Given the description of an element on the screen output the (x, y) to click on. 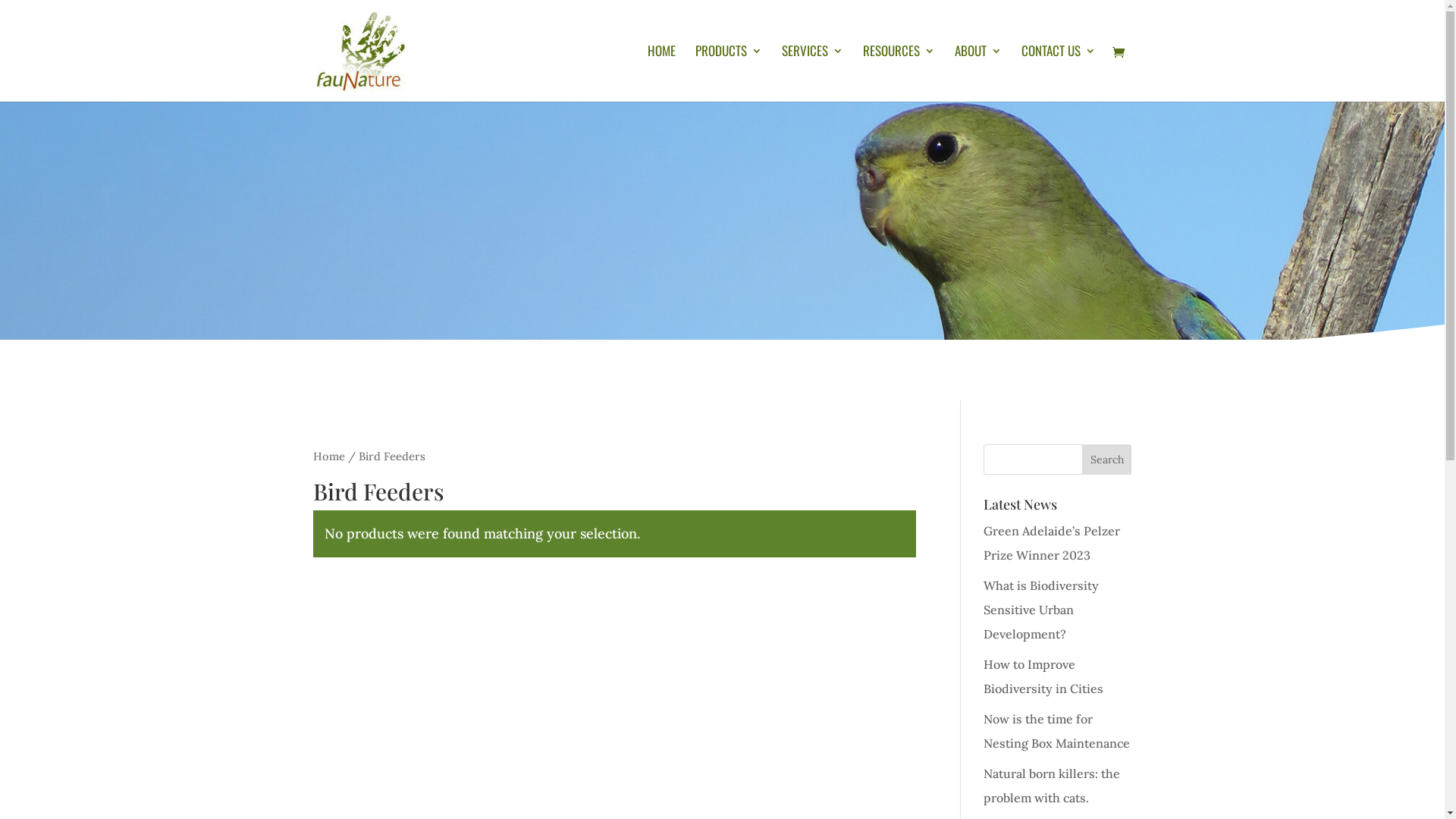
PRODUCTS Element type: text (727, 73)
Search Element type: text (1107, 459)
Natural born killers: the problem with cats. Element type: text (1051, 785)
CONTACT US Element type: text (1057, 73)
ABOUT Element type: text (977, 73)
RESOURCES Element type: text (898, 73)
SERVICES Element type: text (811, 73)
HOME Element type: text (661, 73)
Home Element type: text (328, 455)
Now is the time for Nesting Box Maintenance Element type: text (1056, 730)
What is Biodiversity Sensitive Urban Development? Element type: text (1040, 609)
How to Improve Biodiversity in Cities Element type: text (1043, 676)
